Given the description of an element on the screen output the (x, y) to click on. 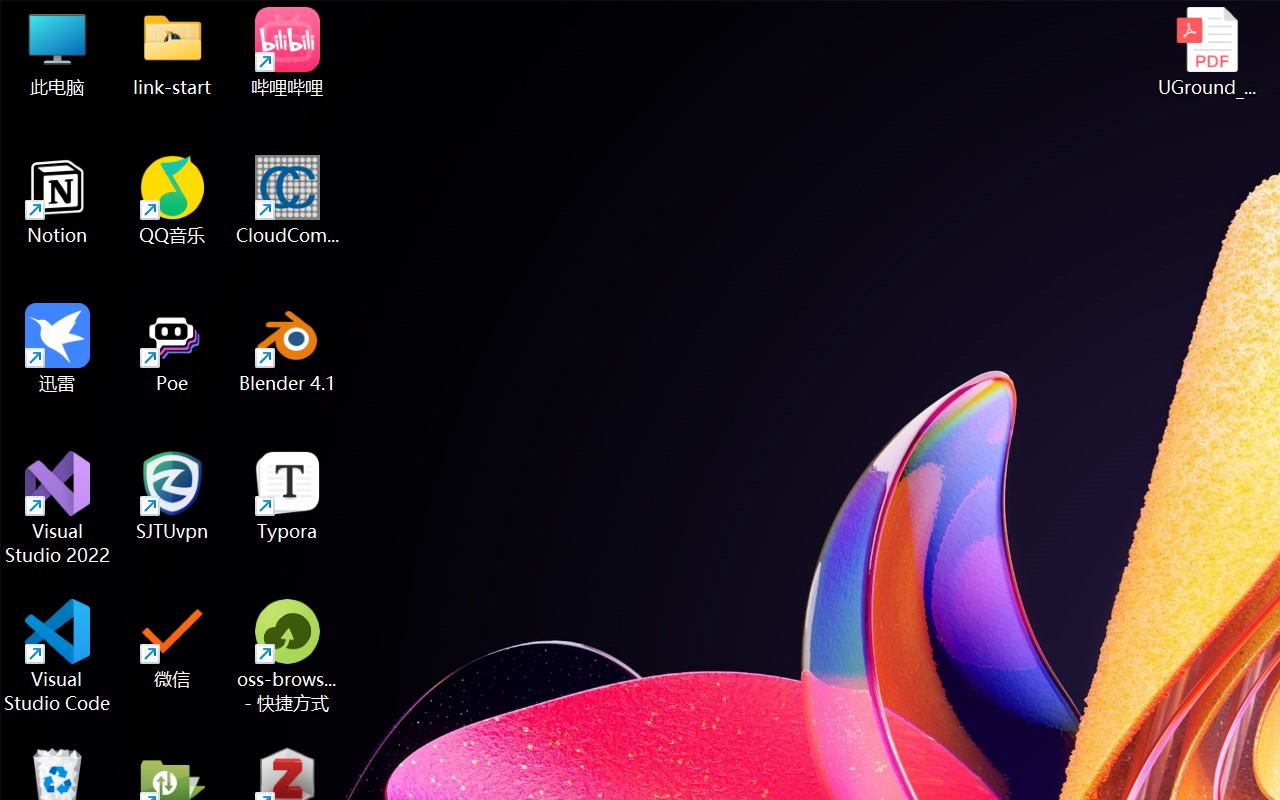
SJTUvpn (172, 496)
Visual Studio 2022 (57, 508)
CloudCompare (287, 200)
Visual Studio Code (57, 656)
Blender 4.1 (287, 348)
UGround_paper.pdf (1206, 52)
Typora (287, 496)
